Given the description of an element on the screen output the (x, y) to click on. 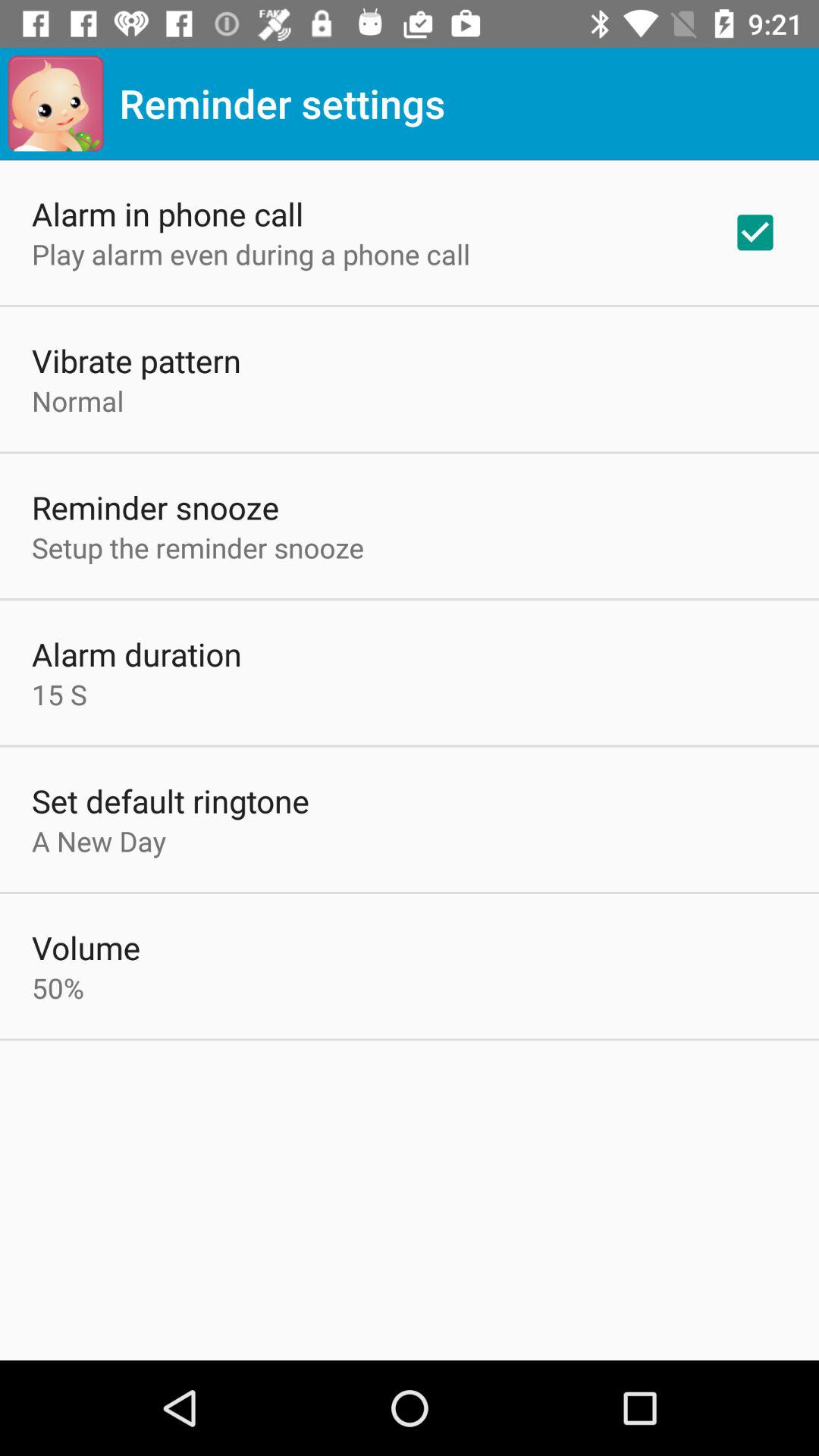
scroll until the 15 s app (59, 694)
